Given the description of an element on the screen output the (x, y) to click on. 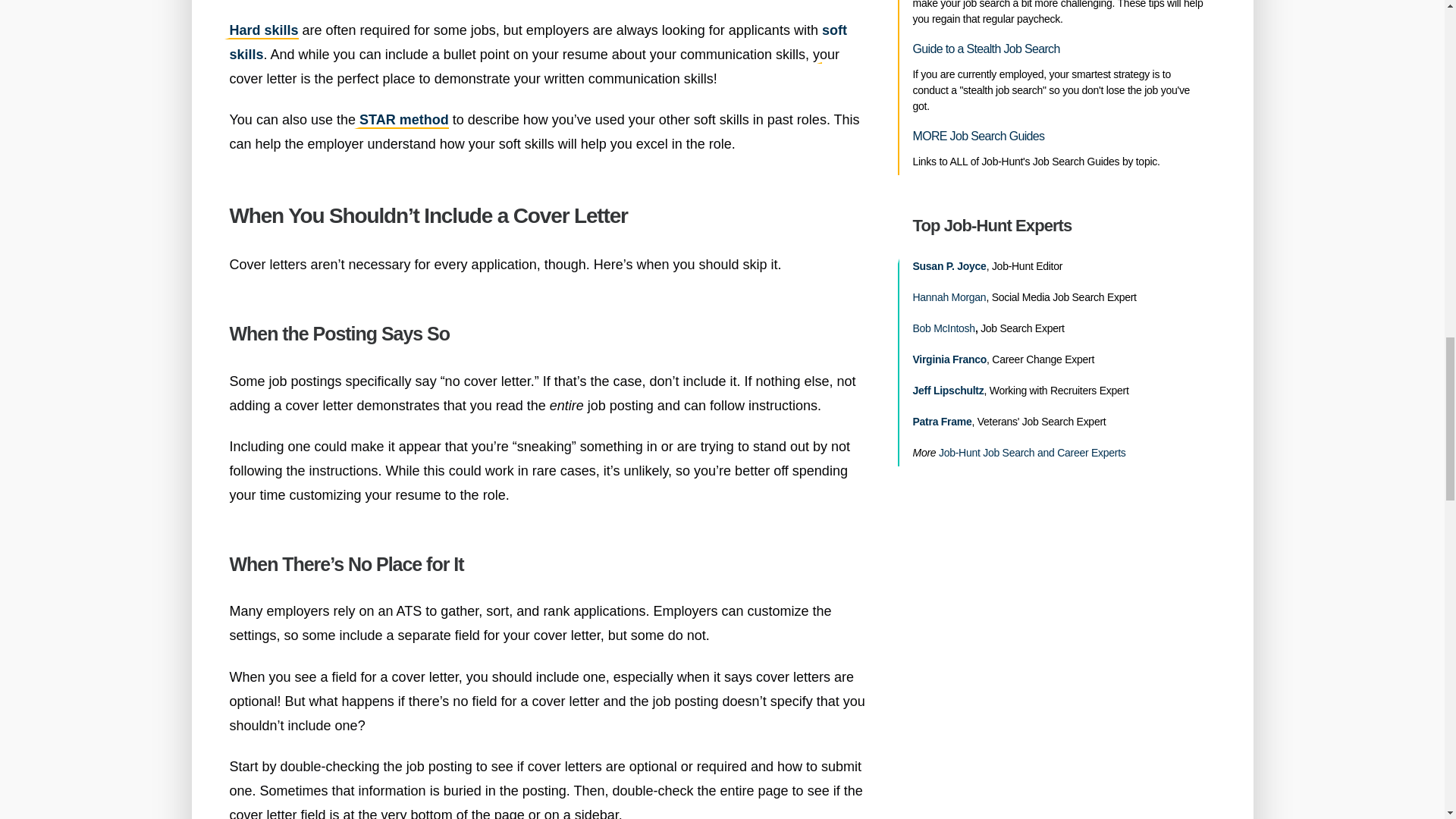
Bob McIntosh, Job Search Expert (943, 328)
Online Job Search Guide (978, 136)
Virginia Franco, Career Change Expert (949, 359)
Susan P. Joyce, Online Job Search Expert (949, 266)
Hannah Morgan, Social Media Job Search Expert (949, 297)
Jeff Lipschultz, Working with Recruiters Expert (948, 390)
Guide to Stealth Job Search (985, 49)
